Given the description of an element on the screen output the (x, y) to click on. 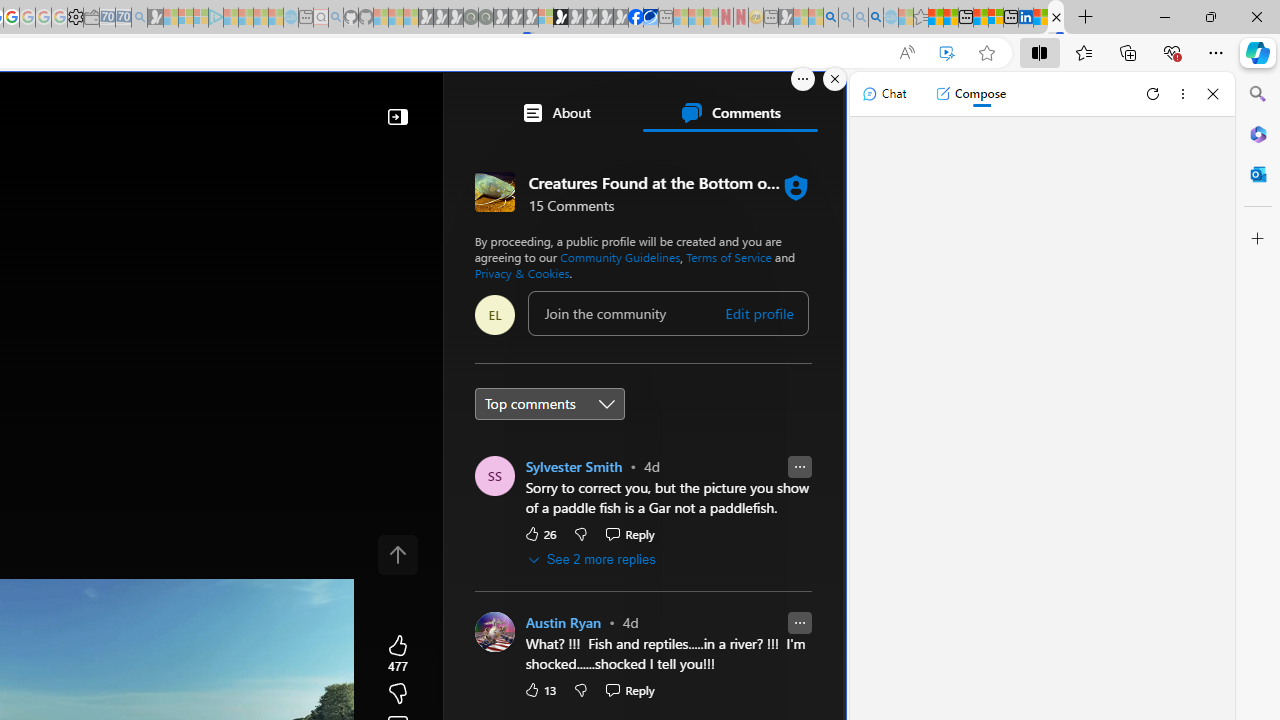
Bing AI - Search (831, 17)
Austin Ryan (562, 623)
Nordace | Facebook (635, 17)
Reply Reply Comment (629, 690)
Google Chrome Internet Browser Download - Search Images (876, 17)
